Given the description of an element on the screen output the (x, y) to click on. 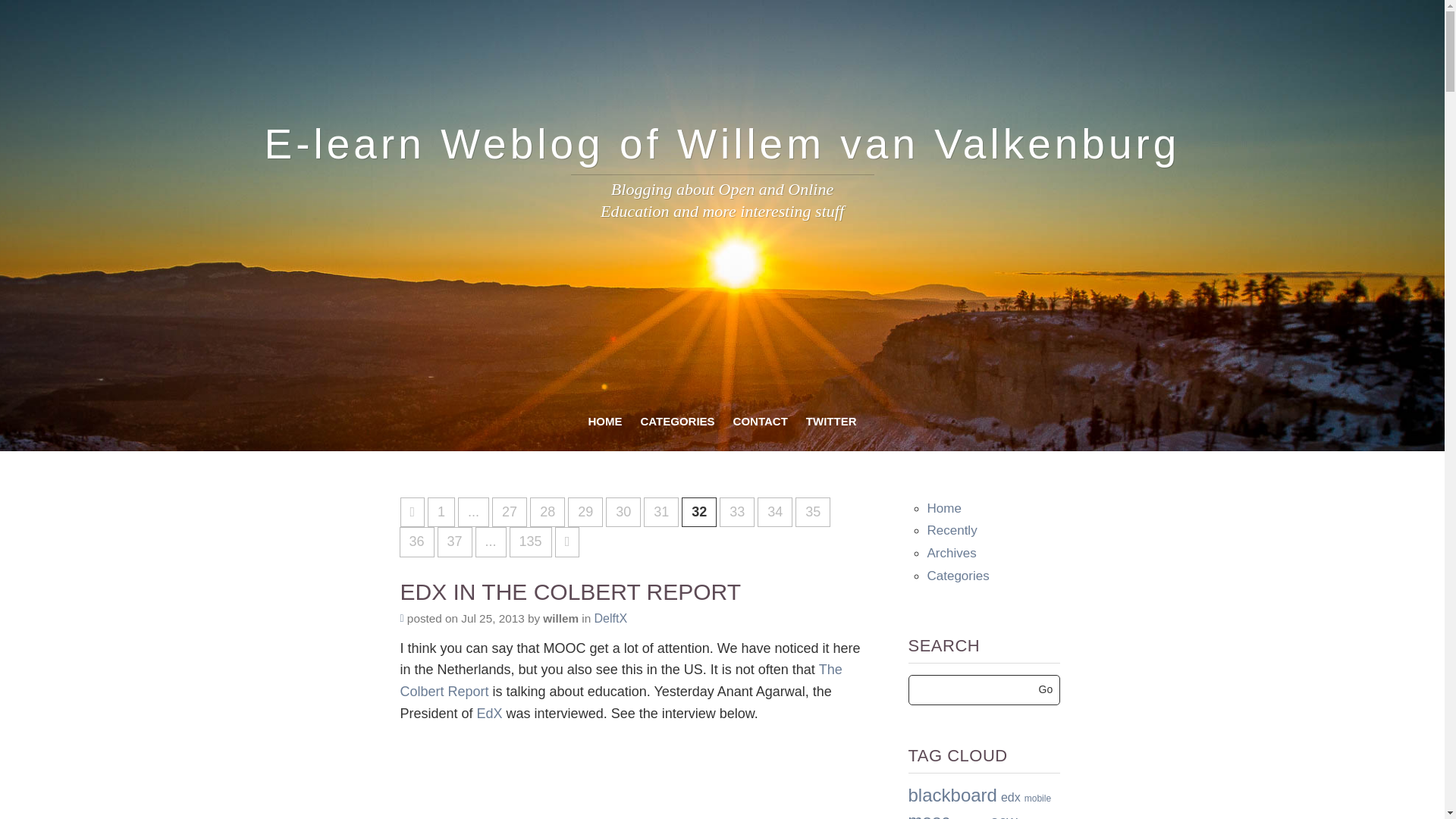
31 (660, 512)
DelftX (610, 617)
... (491, 542)
Go (1045, 689)
29 (584, 512)
34 (774, 512)
36 (415, 542)
35 (811, 512)
30 (622, 512)
1 (441, 512)
